Given the description of an element on the screen output the (x, y) to click on. 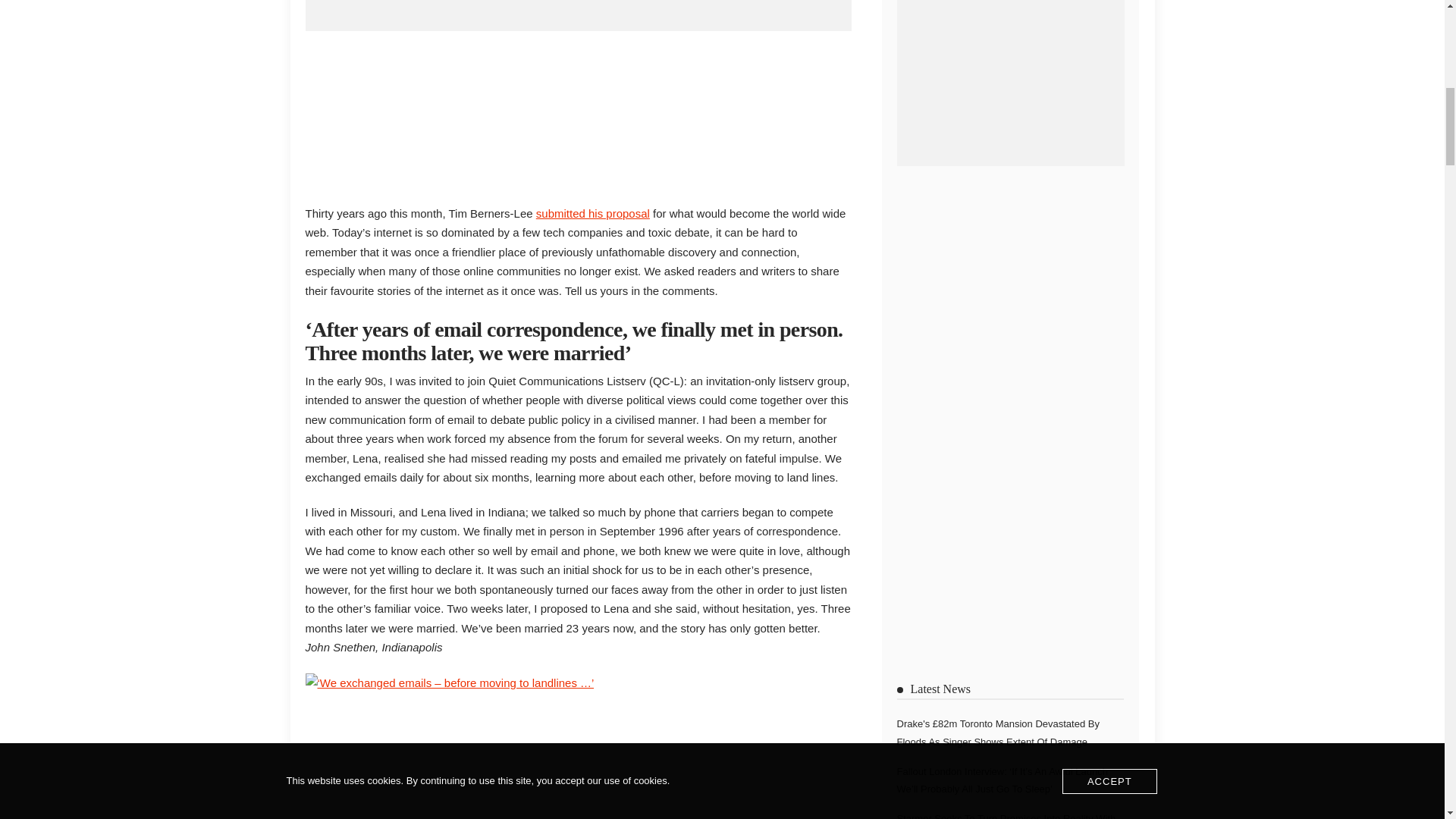
Advertisement (577, 113)
